Given the description of an element on the screen output the (x, y) to click on. 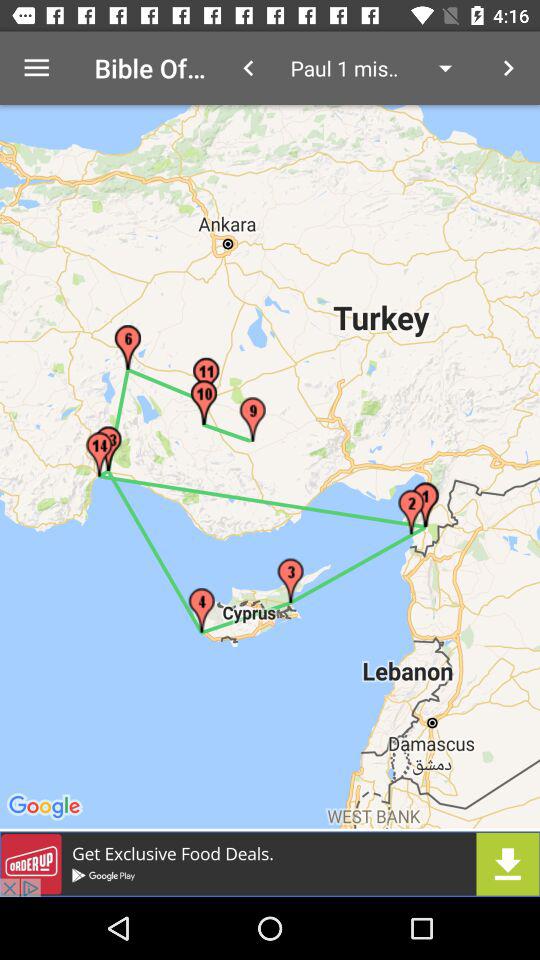
downloading (270, 864)
